Given the description of an element on the screen output the (x, y) to click on. 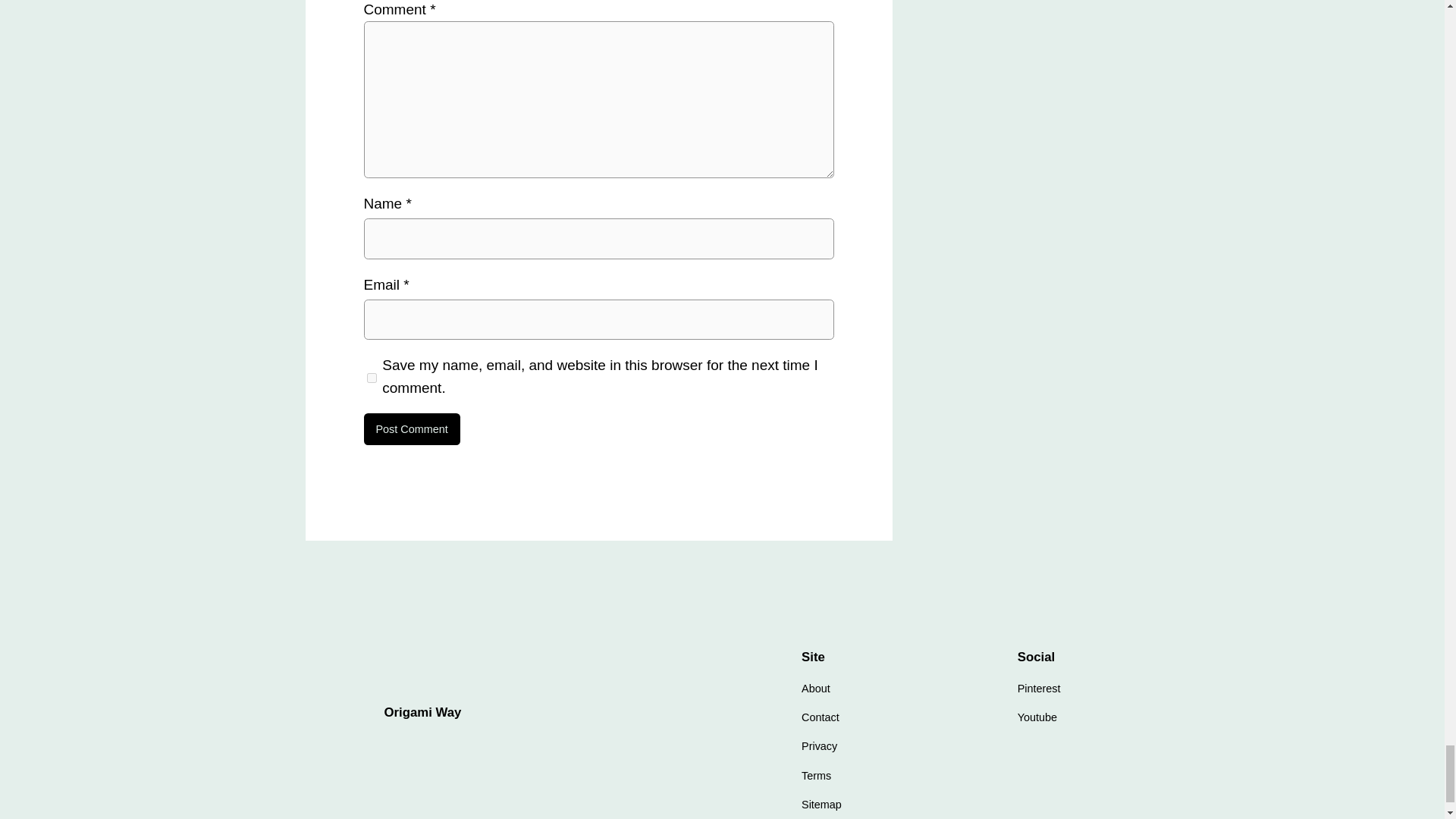
Sitemap (821, 804)
Youtube (1037, 717)
About (815, 688)
Post Comment (412, 429)
Contact (821, 717)
Origami Way (422, 712)
Post Comment (412, 429)
Pinterest (1039, 688)
Privacy (819, 745)
Terms (816, 775)
